Given the description of an element on the screen output the (x, y) to click on. 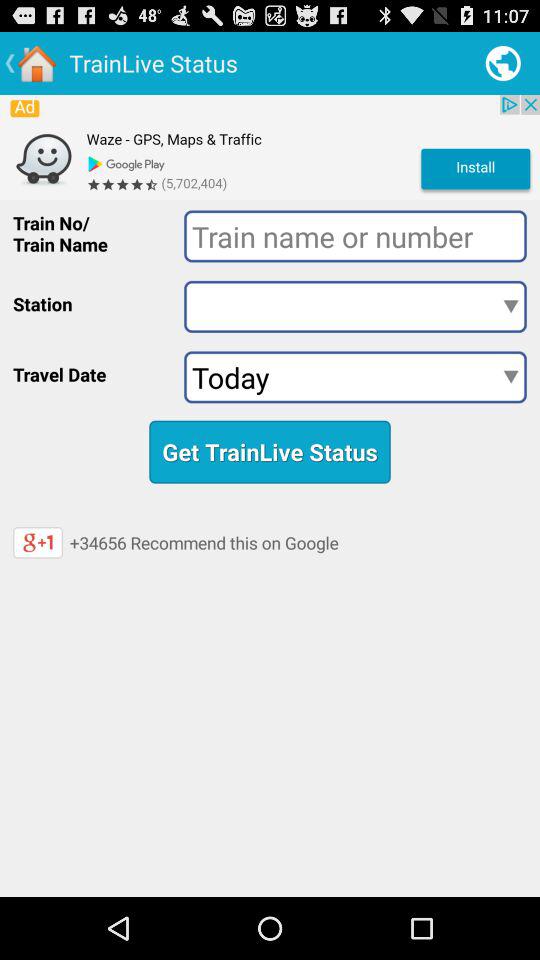
data entry field (355, 236)
